Given the description of an element on the screen output the (x, y) to click on. 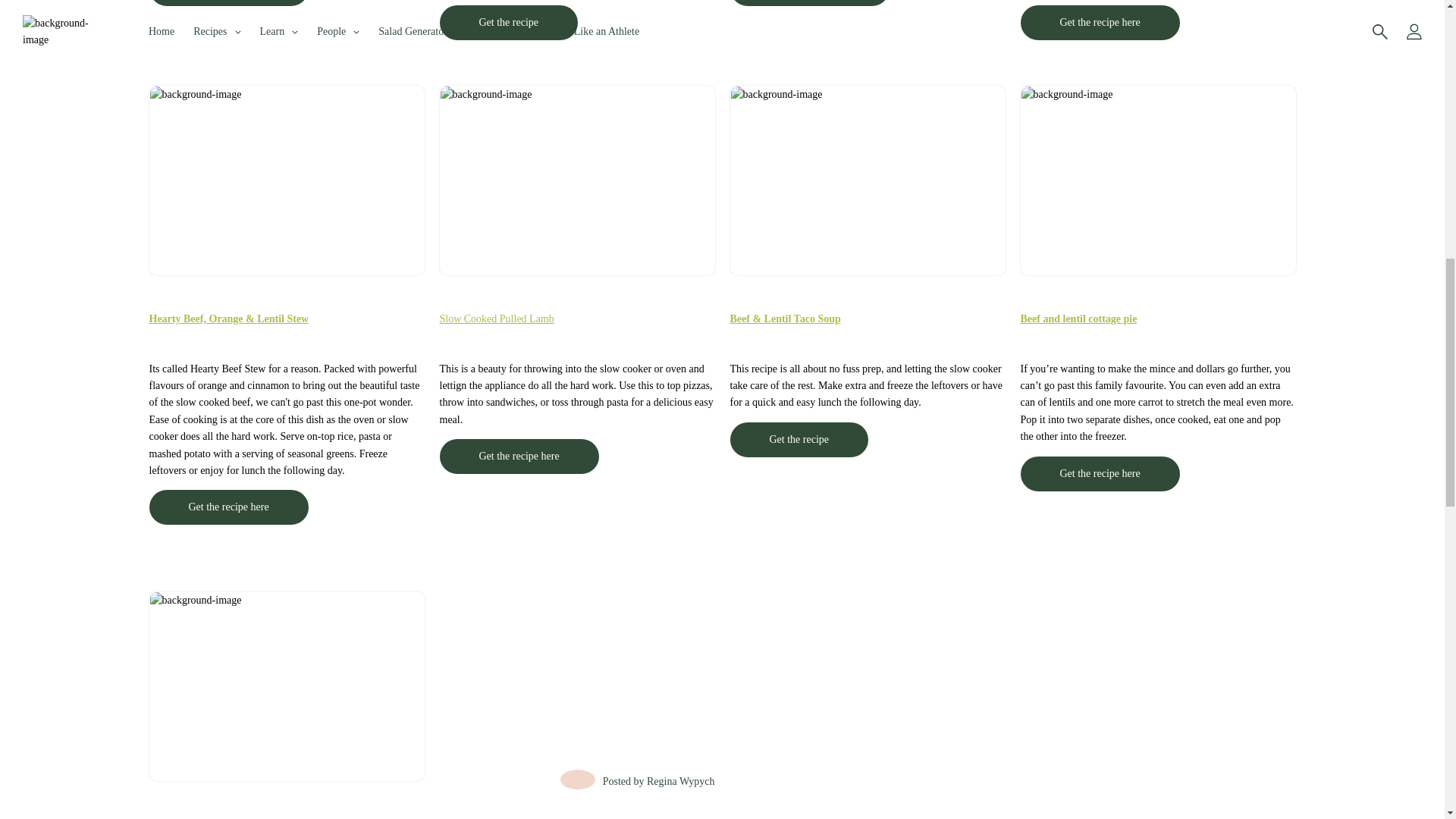
Get the recipe here (808, 2)
Get the recipe here (227, 2)
Get the recipe here (1099, 22)
Get the recipe here (1099, 21)
Get the recipe here (518, 456)
Get the recipe (508, 22)
Slow Cooked Pulled Lamb (496, 318)
Get the recipe here (227, 506)
Get the recipe here (227, 506)
Get the recipe (798, 439)
